Given the description of an element on the screen output the (x, y) to click on. 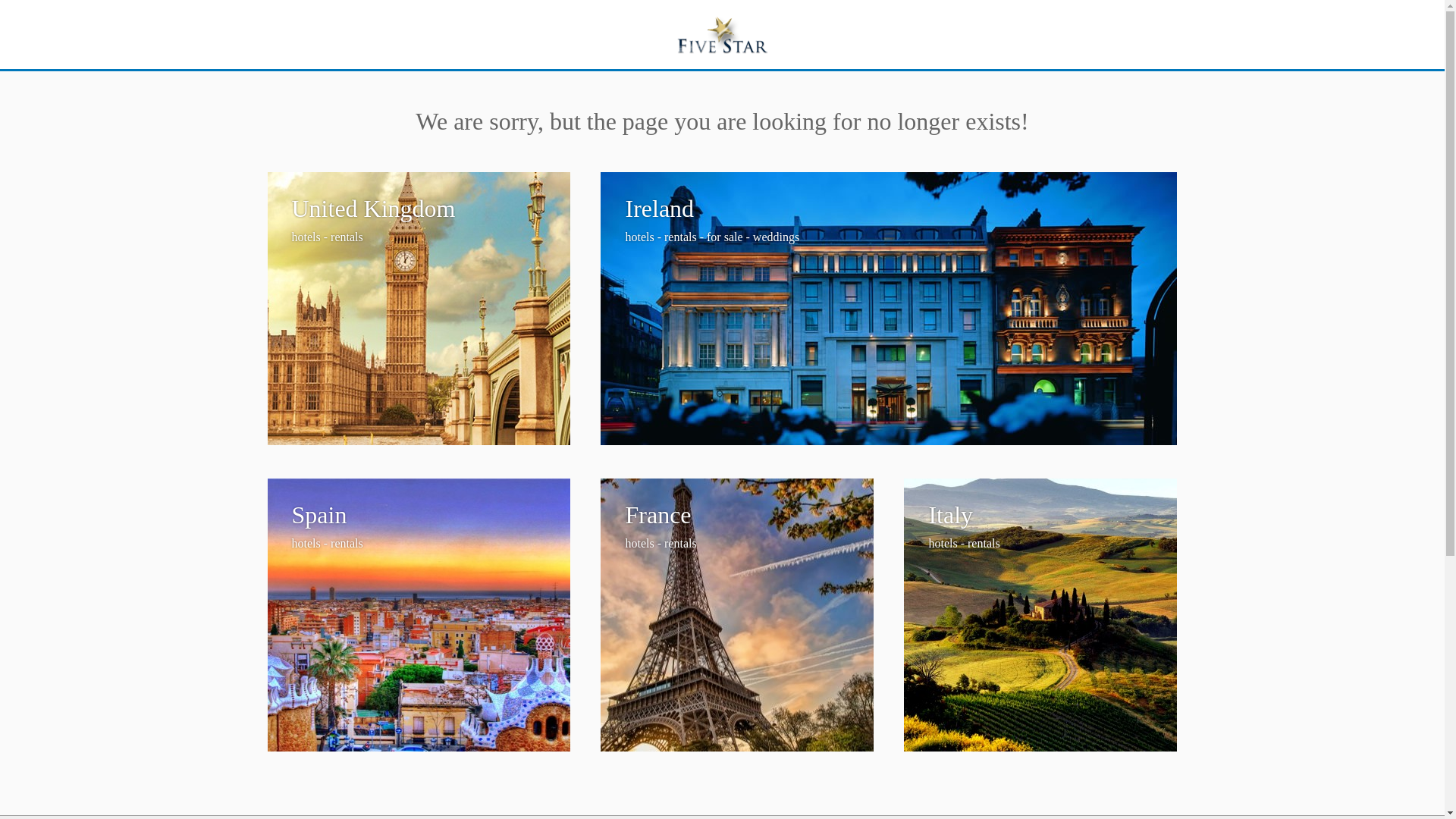
Five Star home official (1040, 614)
